Given the description of an element on the screen output the (x, y) to click on. 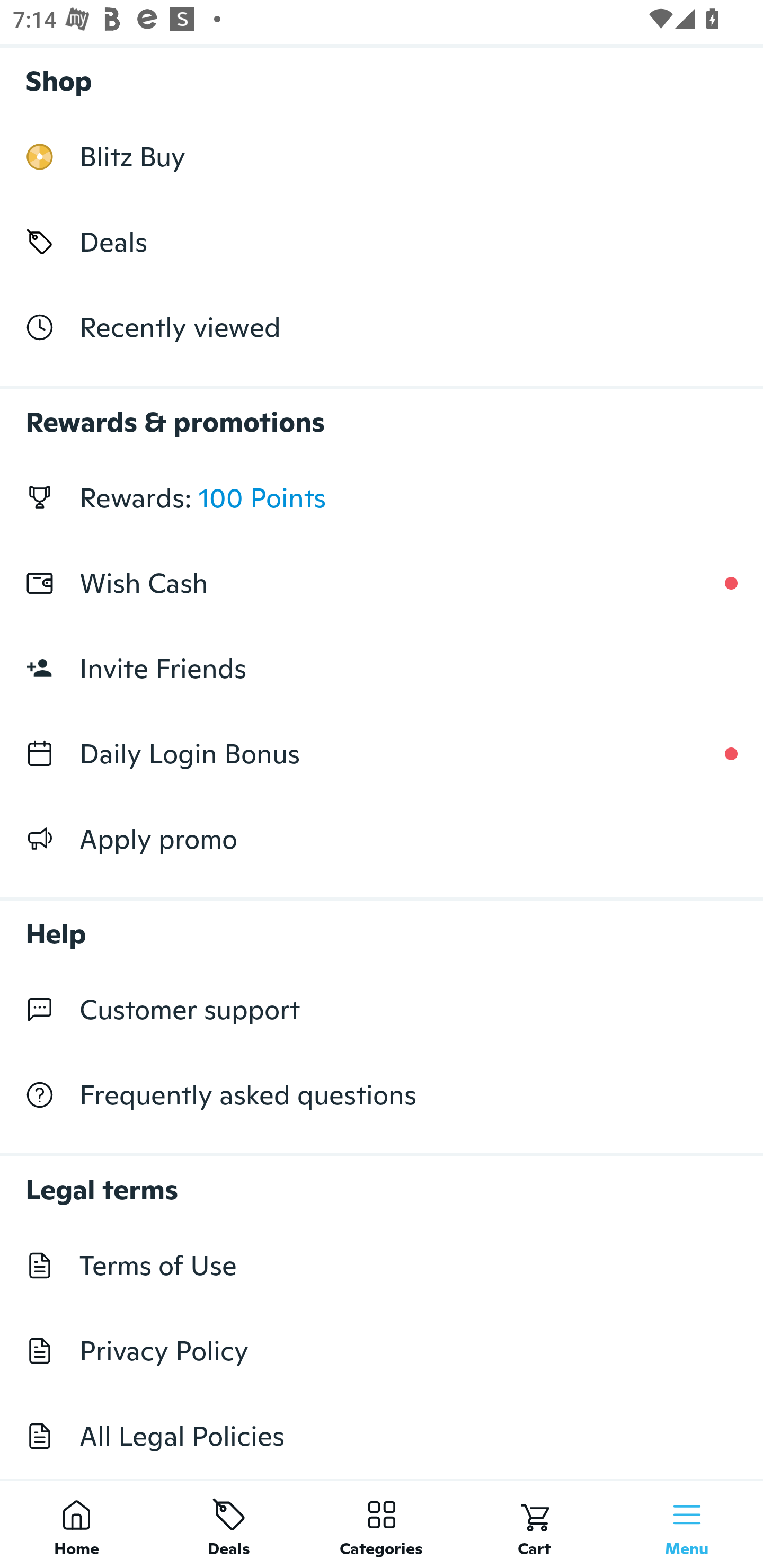
Shop (381, 75)
Blitz Buy (381, 156)
Deals (381, 242)
Recently viewed (381, 326)
Rewards & promotions (381, 413)
Rewards: 100 Points (381, 497)
Wish Cash (381, 582)
Invite Friends (381, 668)
Daily Login Bonus (381, 753)
Apply promo (381, 838)
Help (381, 924)
Customer support (381, 1009)
Frequently asked questions (381, 1095)
Legal terms (381, 1179)
Terms of Use (381, 1265)
Privacy Policy (381, 1350)
All Legal Policies (381, 1435)
Home (76, 1523)
Deals (228, 1523)
Categories (381, 1523)
Cart (533, 1523)
Menu (686, 1523)
